Given the description of an element on the screen output the (x, y) to click on. 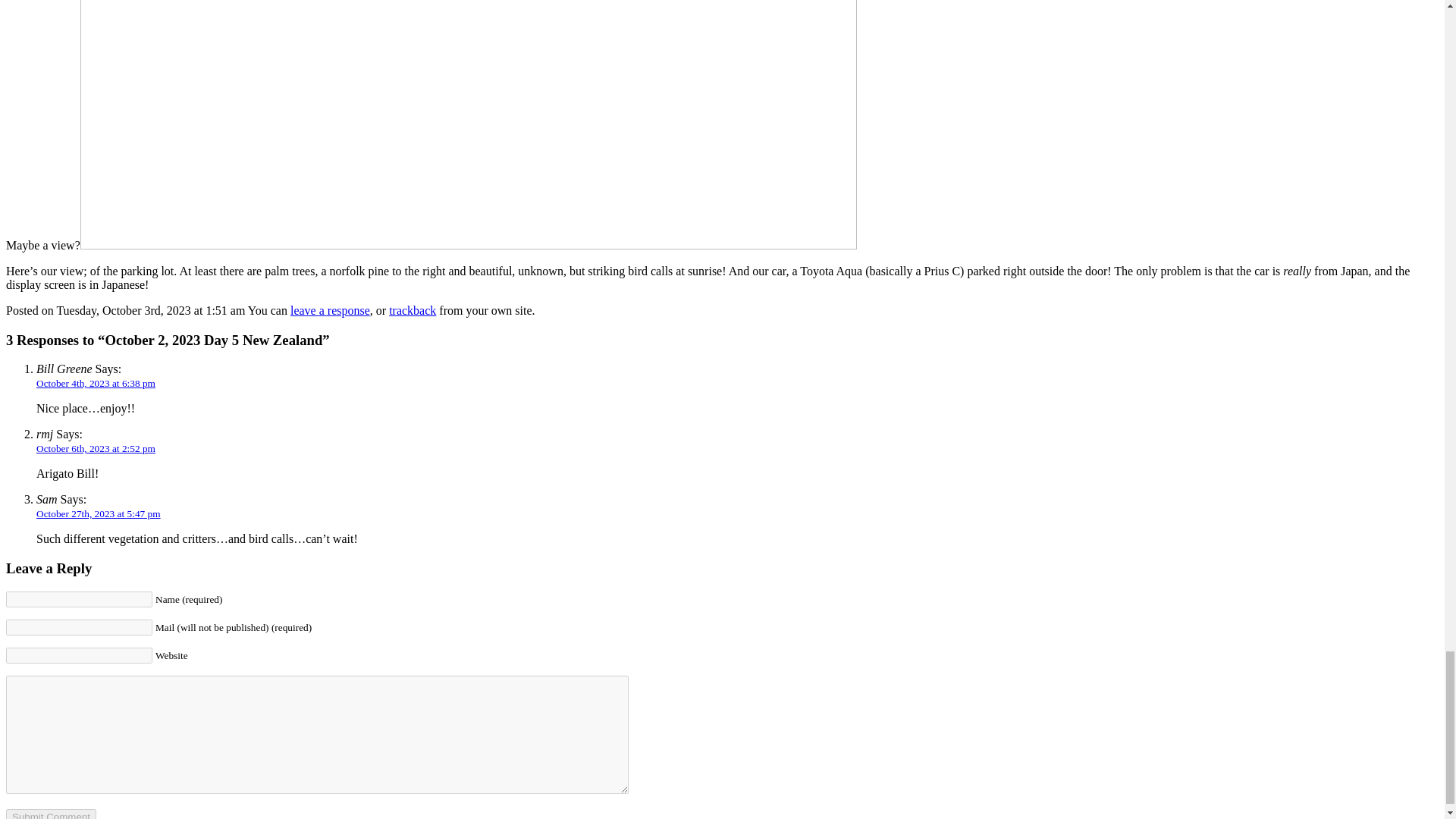
October 6th, 2023 at 2:52 pm (95, 448)
trackback (411, 309)
October 27th, 2023 at 5:47 pm (98, 513)
October 4th, 2023 at 6:38 pm (95, 383)
leave a response (329, 309)
